Given the description of an element on the screen output the (x, y) to click on. 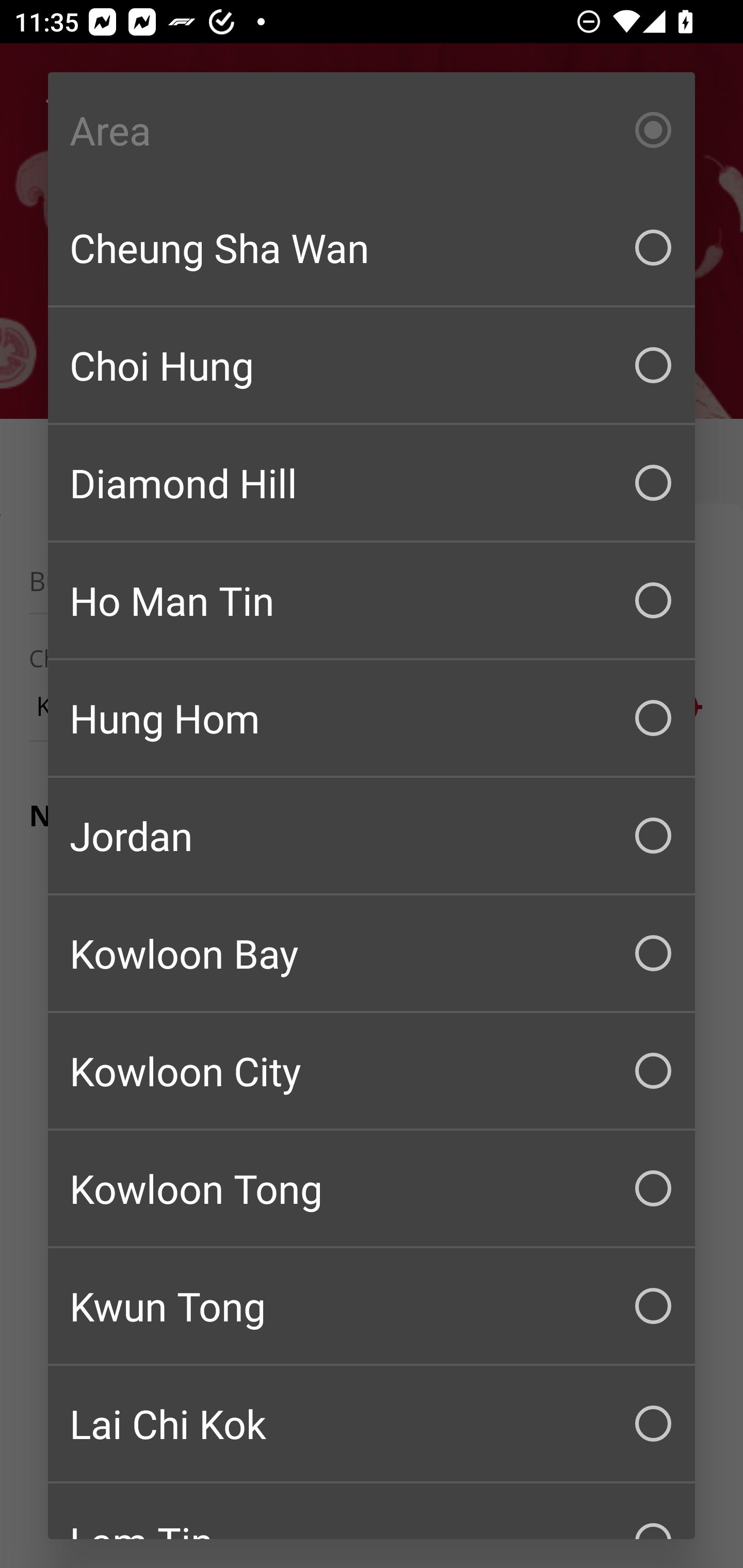
Cheung Sha Wan (371, 247)
Choi Hung (371, 365)
Diamond Hill (371, 482)
Ho Man Tin (371, 600)
Hung Hom (371, 718)
Jordan (371, 835)
Kowloon Bay (371, 953)
Kowloon City (371, 1070)
Kowloon Tong (371, 1188)
Kwun Tong (371, 1306)
Lai Chi Kok (371, 1423)
